Given the description of an element on the screen output the (x, y) to click on. 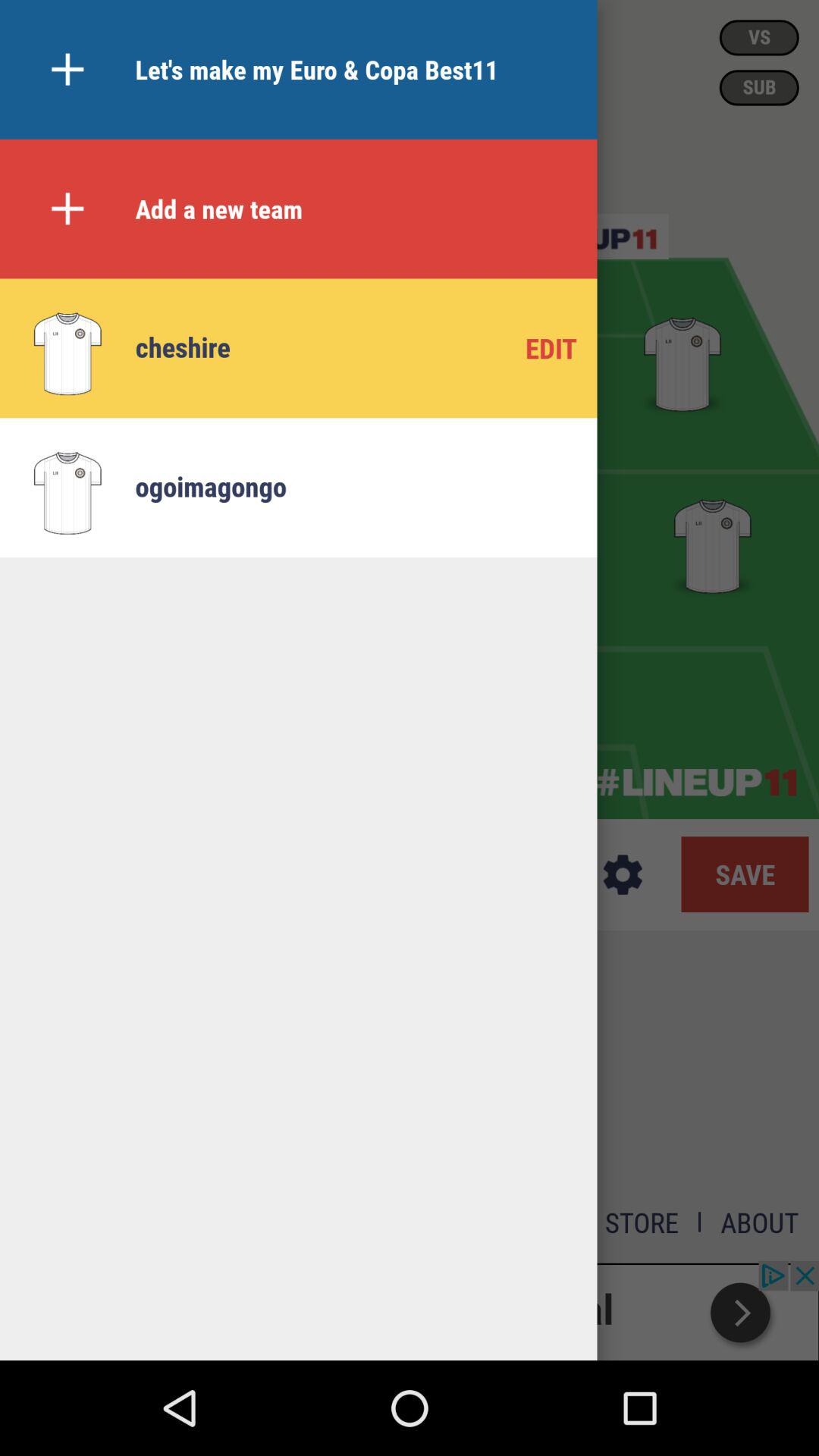
go to tee shirt in second row (712, 543)
select the option about on a page (760, 1221)
select the text which is above the save (696, 782)
click on the settings icon beside text save (622, 875)
